Given the description of an element on the screen output the (x, y) to click on. 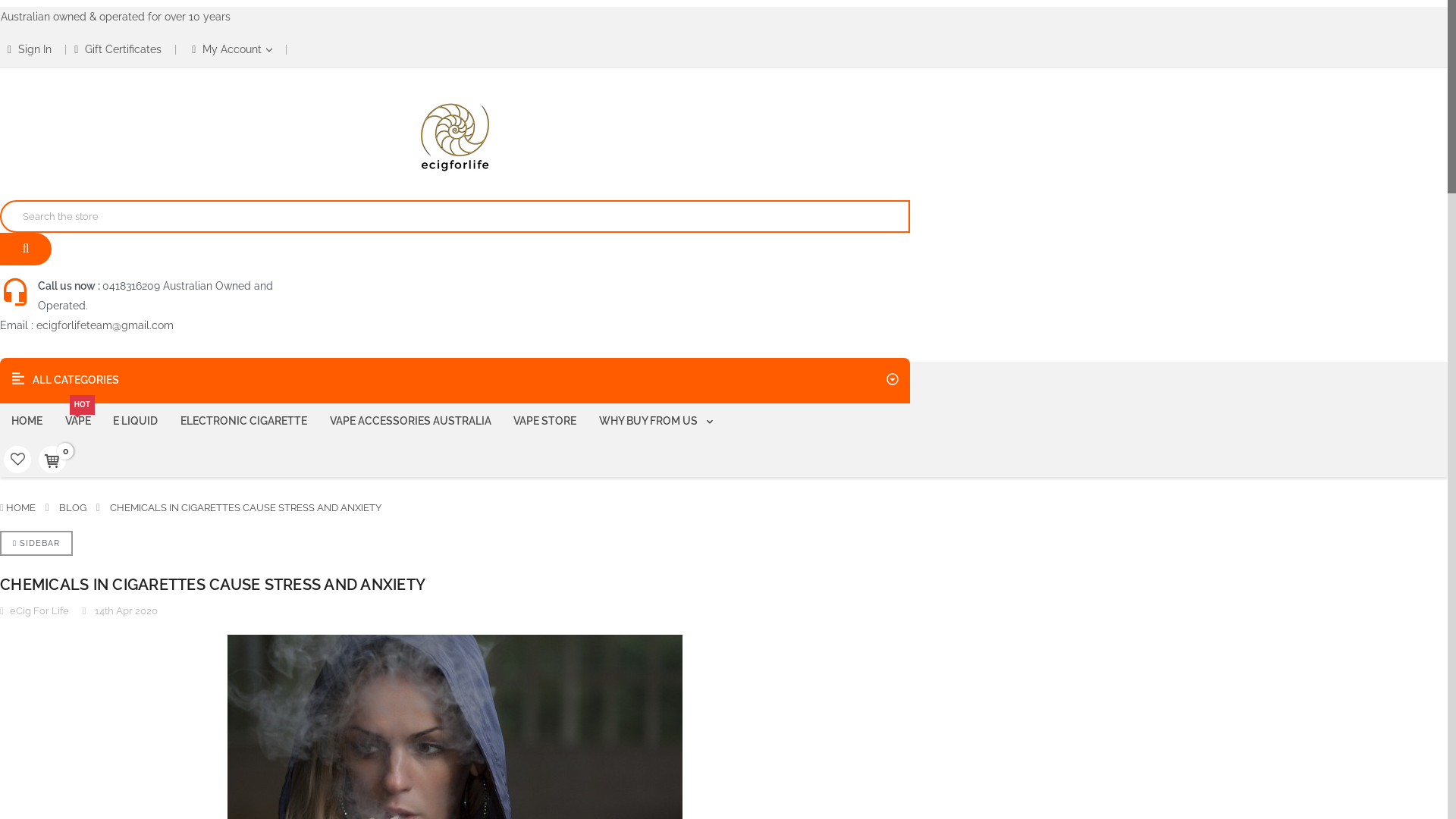
HOME Element type: text (26, 420)
Orders placed before 4pm EST ship the same day Element type: text (122, 17)
HOT
VAPE Element type: text (77, 420)
E LIQUID Element type: text (135, 420)
BLOG Element type: text (72, 507)
VAPE STORE Element type: text (544, 420)
SIDEBAR Element type: text (36, 542)
WHY BUY FROM US Element type: text (657, 420)
HOME Element type: text (20, 507)
ALL CATEGORIES Element type: text (455, 380)
VAPE ACCESSORIES AUSTRALIA Element type: text (410, 420)
My Account Element type: text (231, 49)
CHEMICALS IN CIGARETTES CAUSE STRESS AND ANXIETY Element type: text (245, 507)
Gift Certificates Element type: text (117, 49)
Sign In Element type: text (29, 49)
0 Element type: text (51, 459)
ELECTRONIC CIGARETTE Element type: text (243, 420)
ecigforlifeteam@gmail.com Element type: text (104, 325)
Call: 
0418316209 Element type: hover (454, 136)
